Given the description of an element on the screen output the (x, y) to click on. 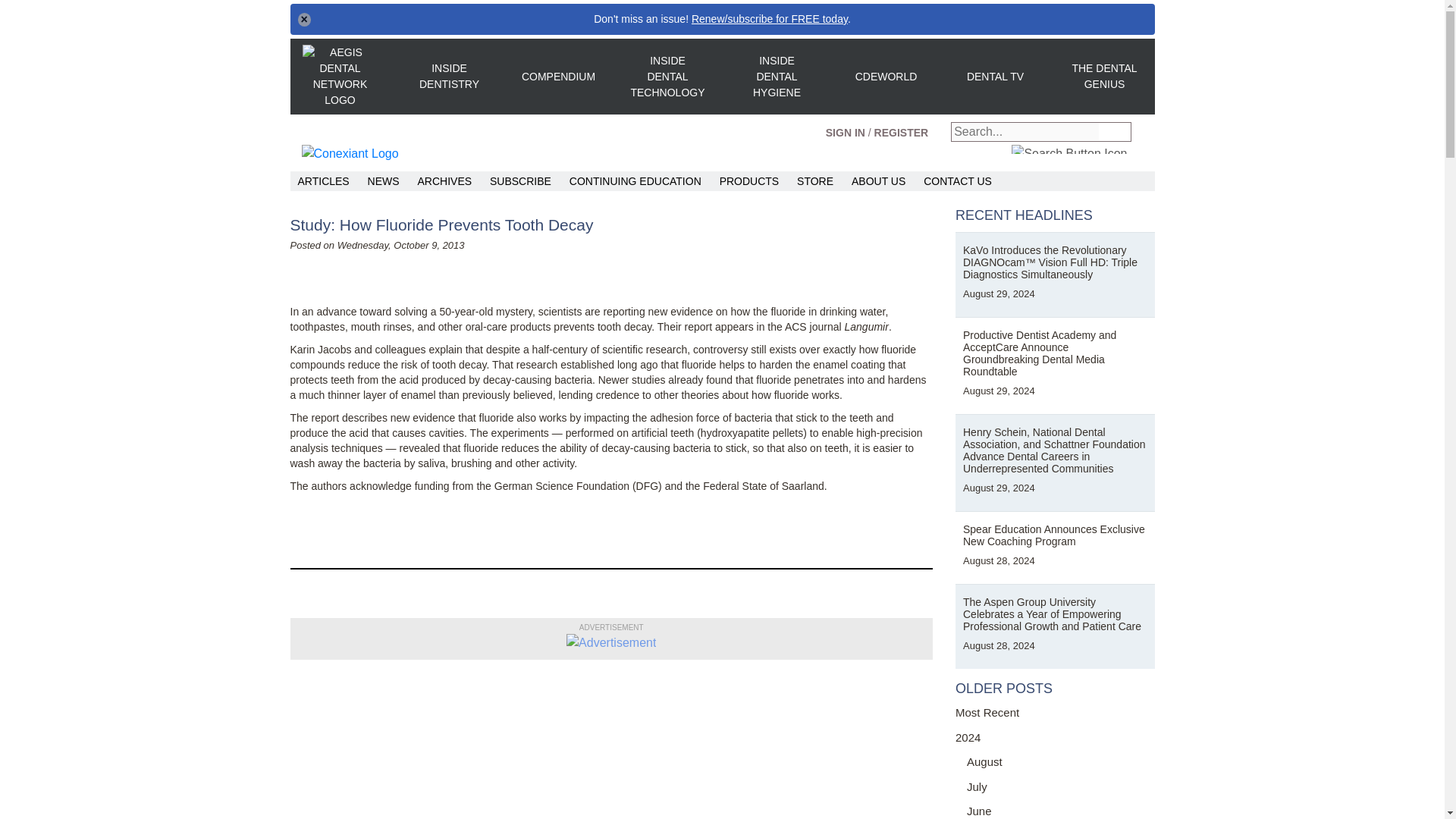
INSIDE DENTISTRY (448, 76)
CDEWORLD (885, 75)
COMPENDIUM (557, 75)
INSIDE DENTAL TECHNOLOGY (666, 76)
INSIDE DENTAL HYGIENE (775, 76)
 Advertisement (611, 642)
